Given the description of an element on the screen output the (x, y) to click on. 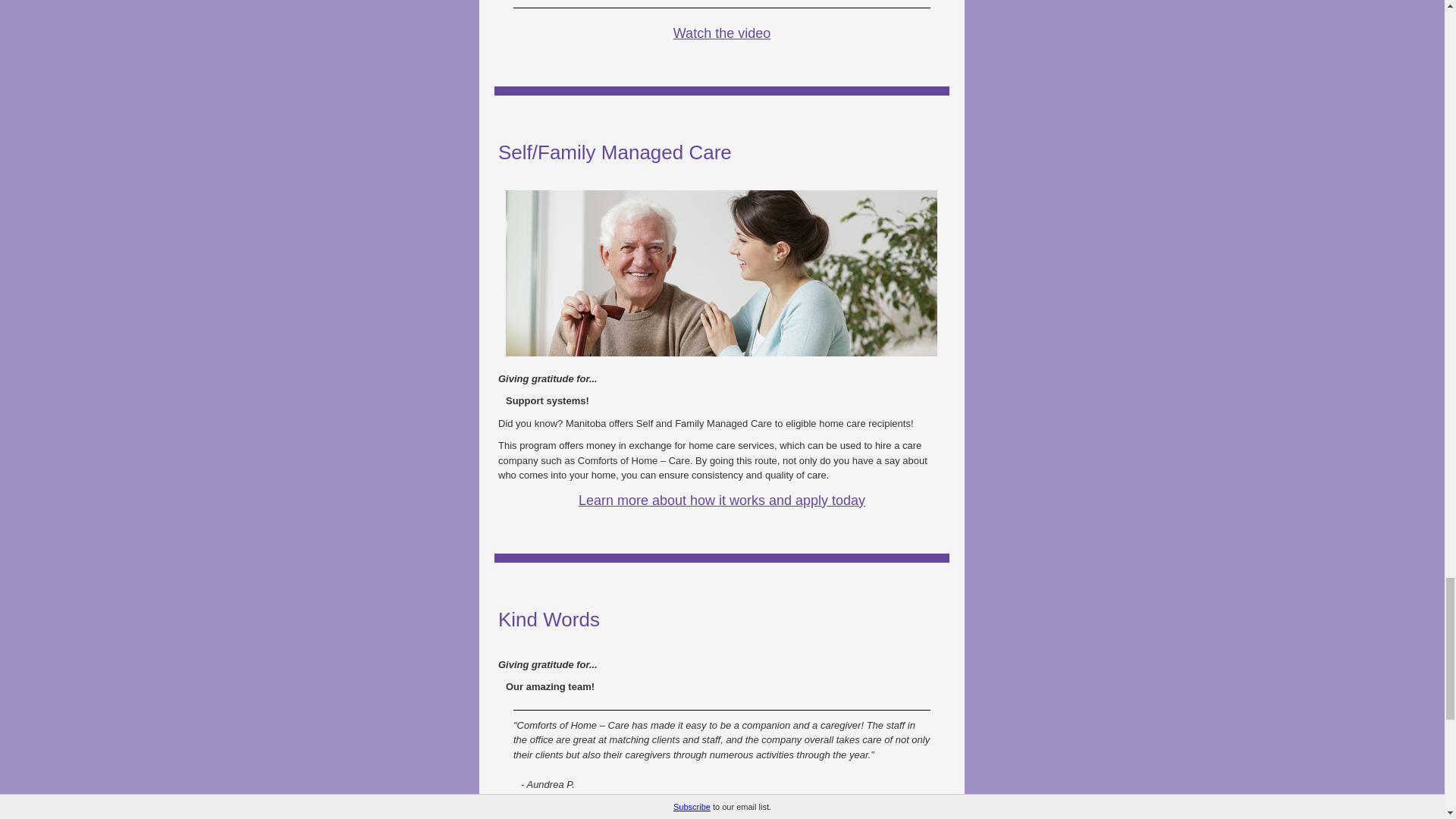
Learn more about how it works and apply today (721, 500)
Watch the video (721, 32)
